Given the description of an element on the screen output the (x, y) to click on. 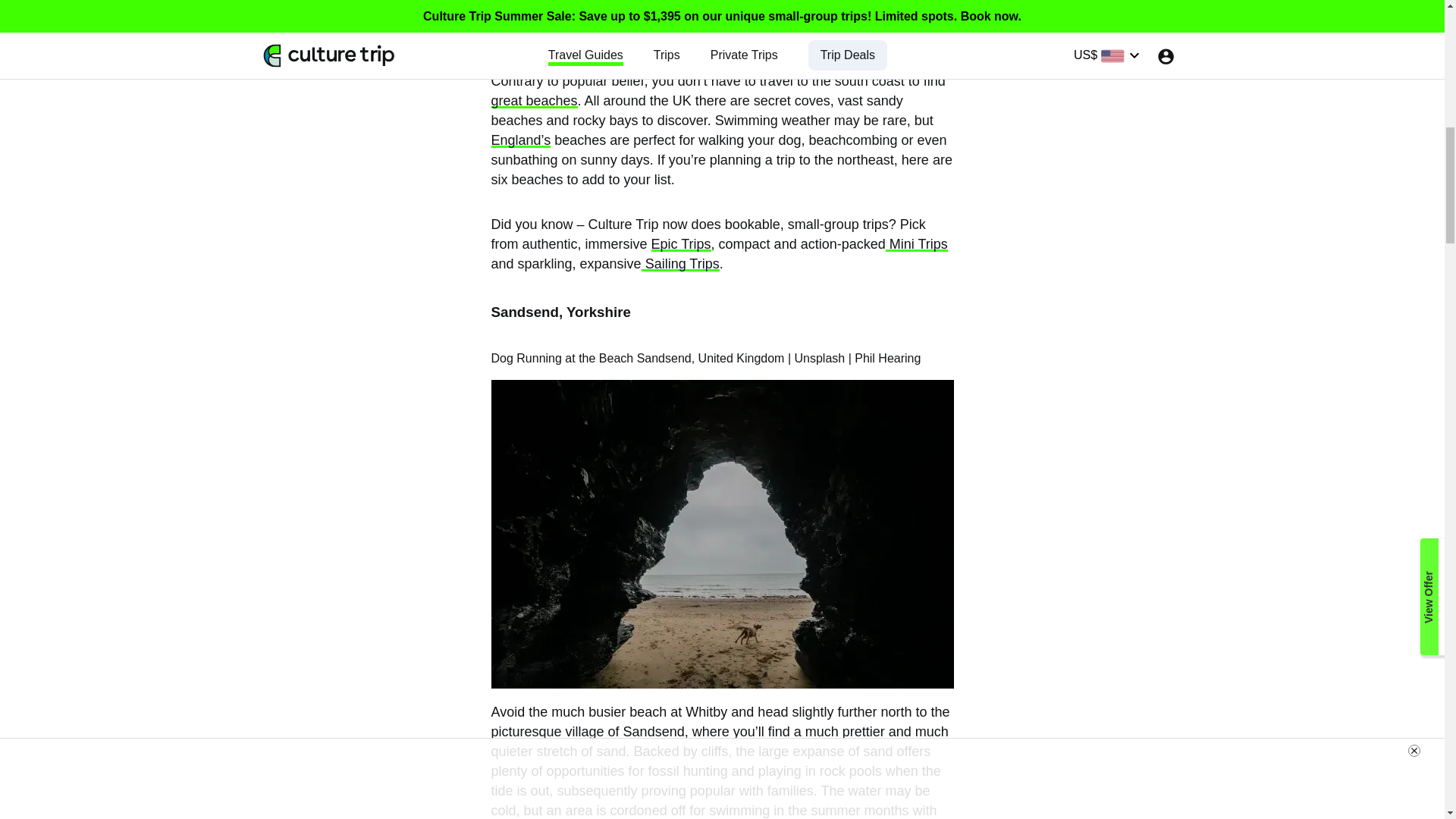
20 November 2022 (370, 40)
Epic Trips (680, 243)
great beaches (535, 100)
Sailing Trips (680, 263)
Mini Trips (916, 243)
